Given the description of an element on the screen output the (x, y) to click on. 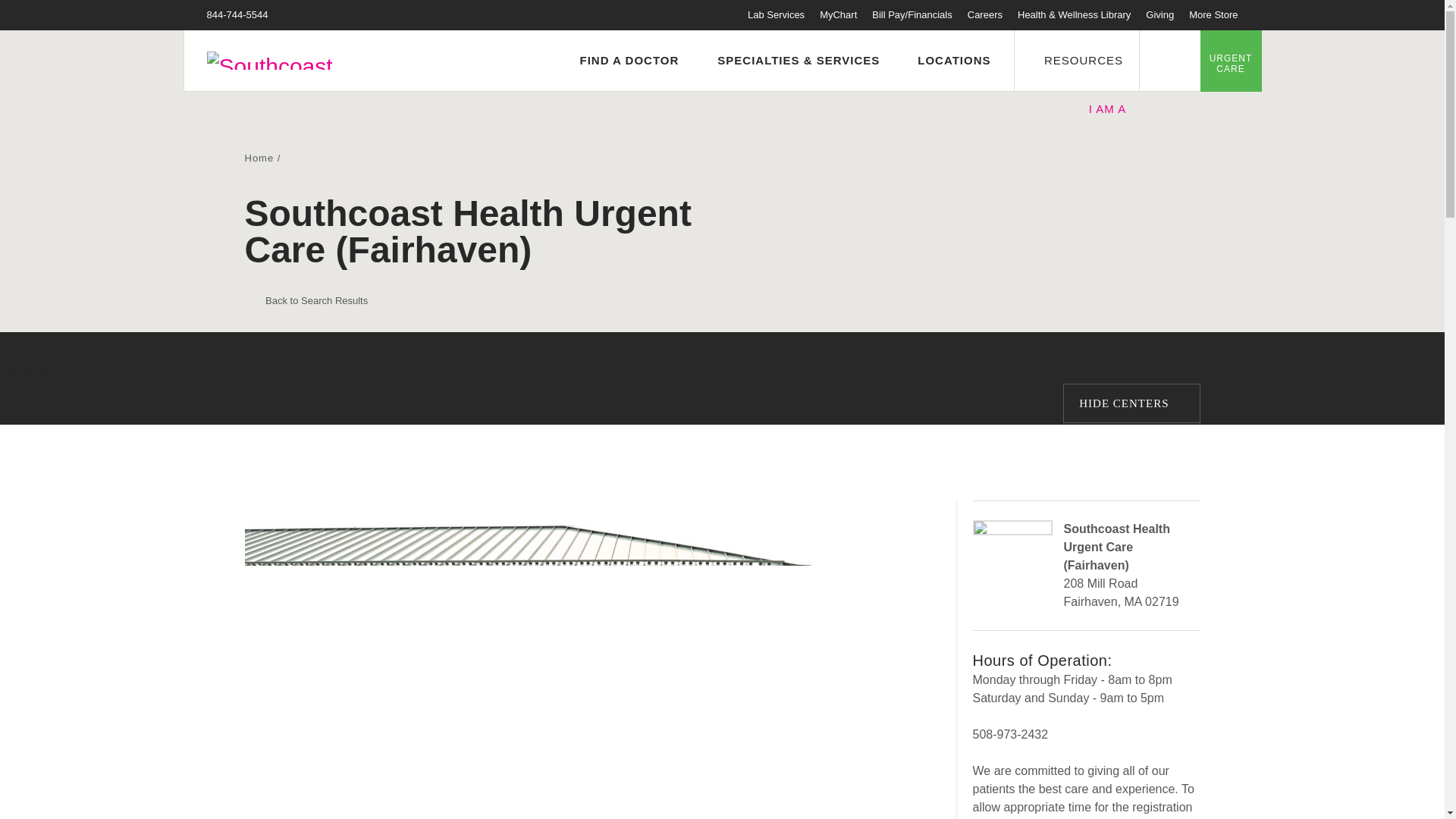
RESOURCES (1075, 60)
MyChart (838, 14)
Lab Services (776, 14)
I AM A (1115, 110)
LOCATIONS (946, 60)
Search (1168, 60)
FIND A DOCTOR (622, 60)
More Store (1213, 14)
URGENT CARE (1229, 60)
Careers (985, 14)
Giving (1159, 14)
